Given the description of an element on the screen output the (x, y) to click on. 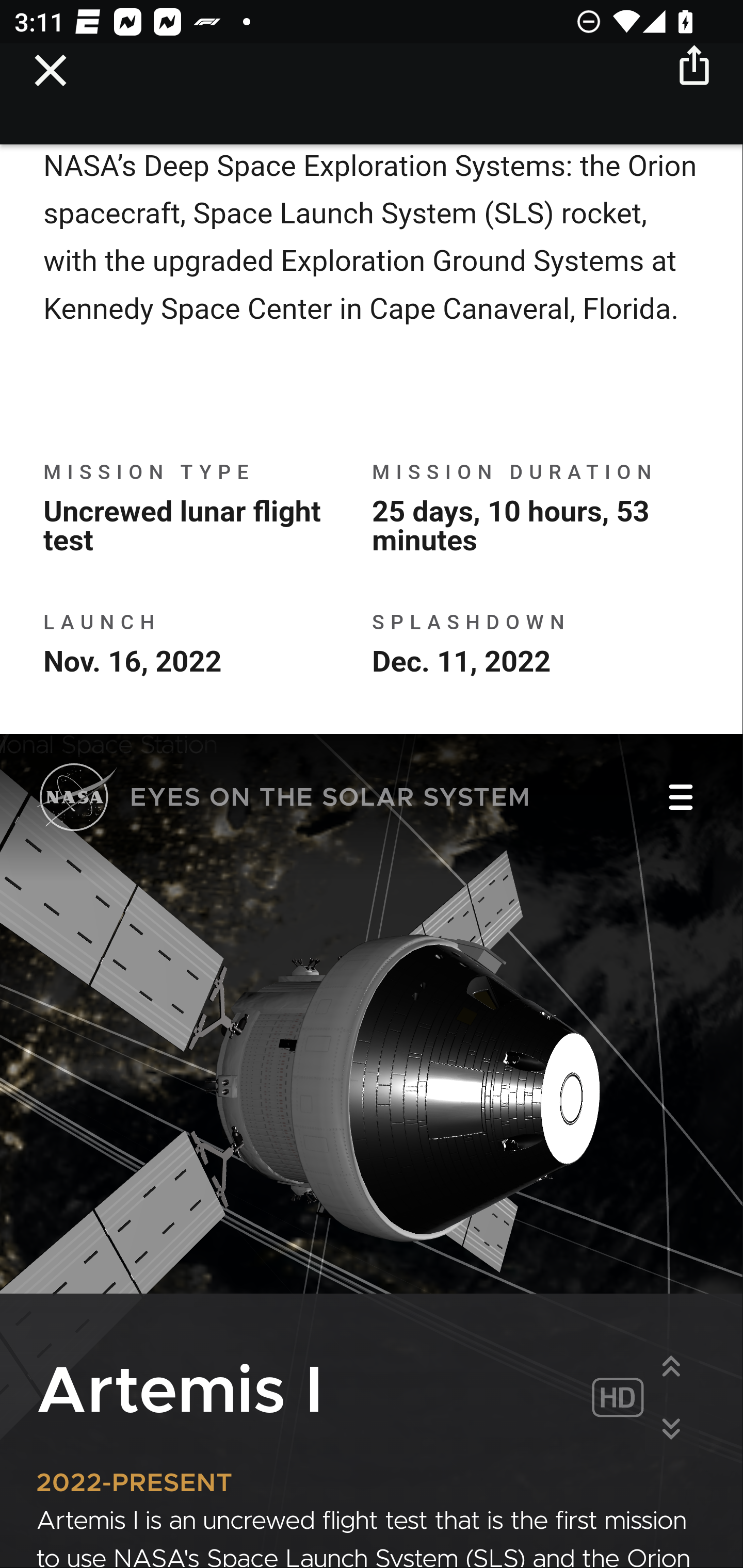
EYES ON THE SOLAR SYSTEM (283, 800)
Expand content panel to full screen (671, 1367)
Toggle high definition textures (617, 1400)
Collapse content panel (671, 1429)
